Given the description of an element on the screen output the (x, y) to click on. 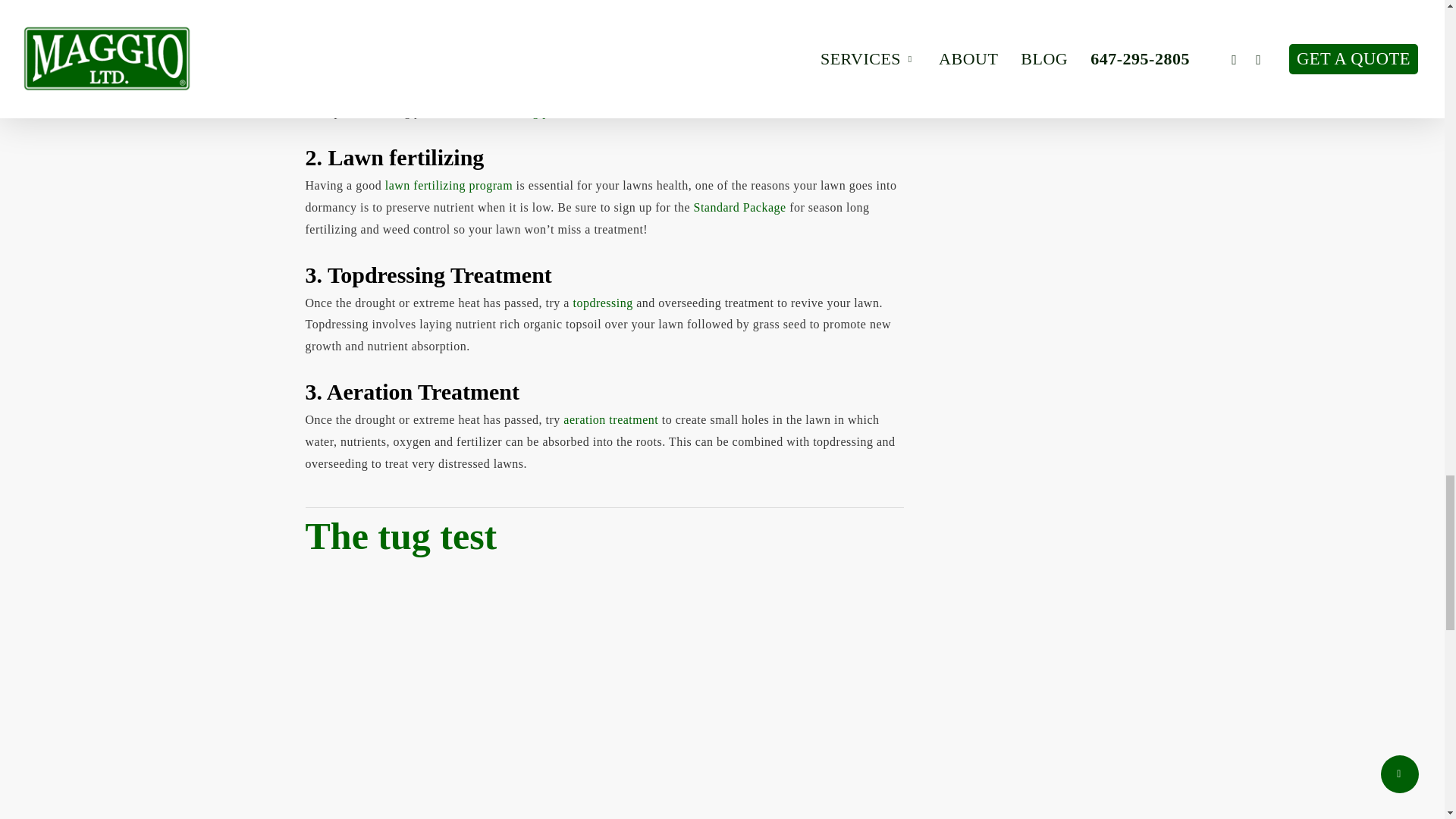
topdressing (601, 302)
aeration treatment (610, 419)
Standard Package (739, 206)
lawn fertilizing program (450, 185)
see this blog post. (518, 111)
